Given the description of an element on the screen output the (x, y) to click on. 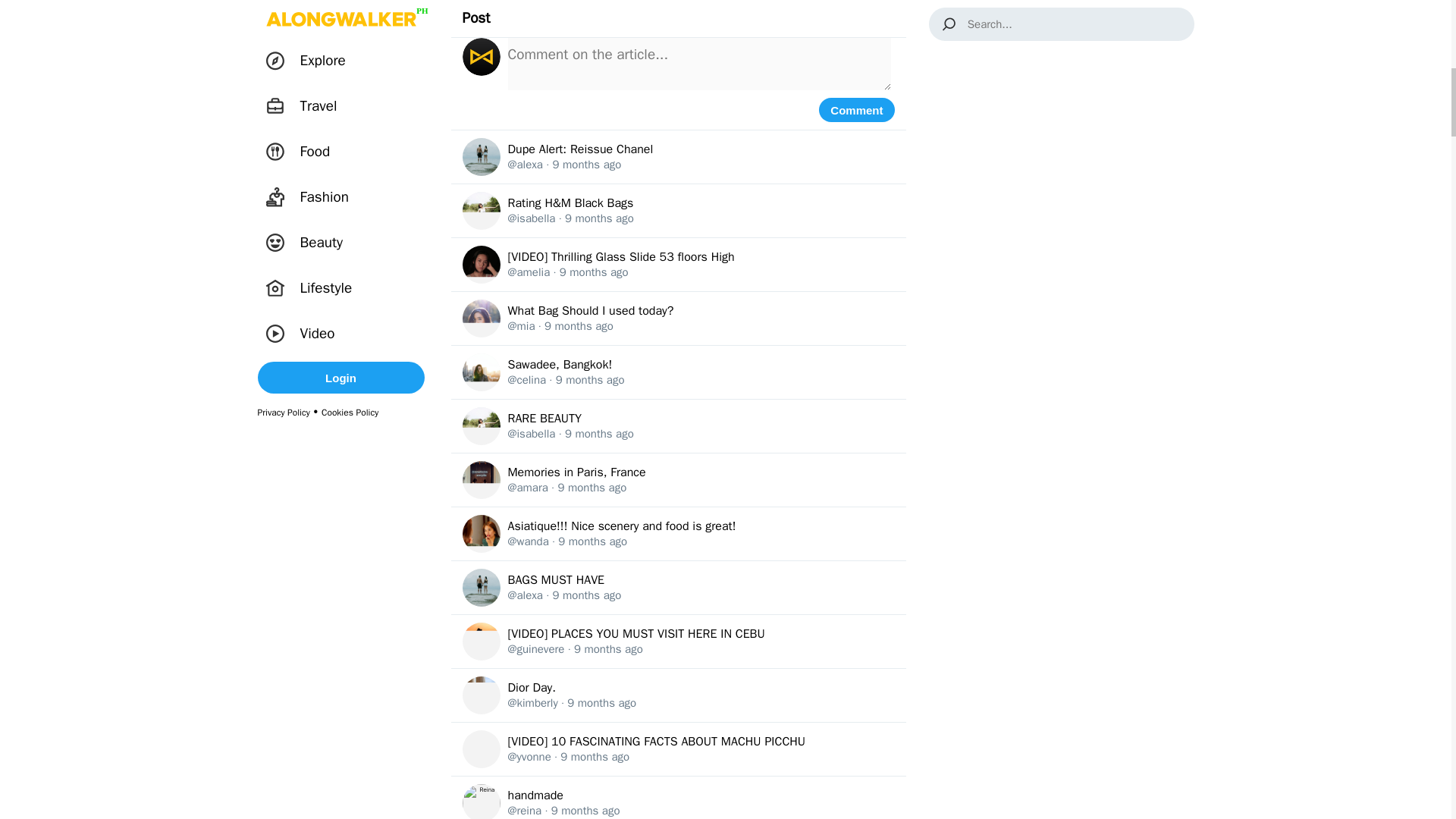
Dior Day. (532, 687)
Dior Day. (532, 687)
BAGS MUST HAVE (556, 580)
Memories in Paris, France (577, 472)
handmade (535, 795)
RARE BEAUTY (545, 418)
Asiatique!!! Nice scenery and food is great! (622, 525)
44 (721, 7)
What Bag Should I used today? (591, 310)
Comment (855, 109)
